Given the description of an element on the screen output the (x, y) to click on. 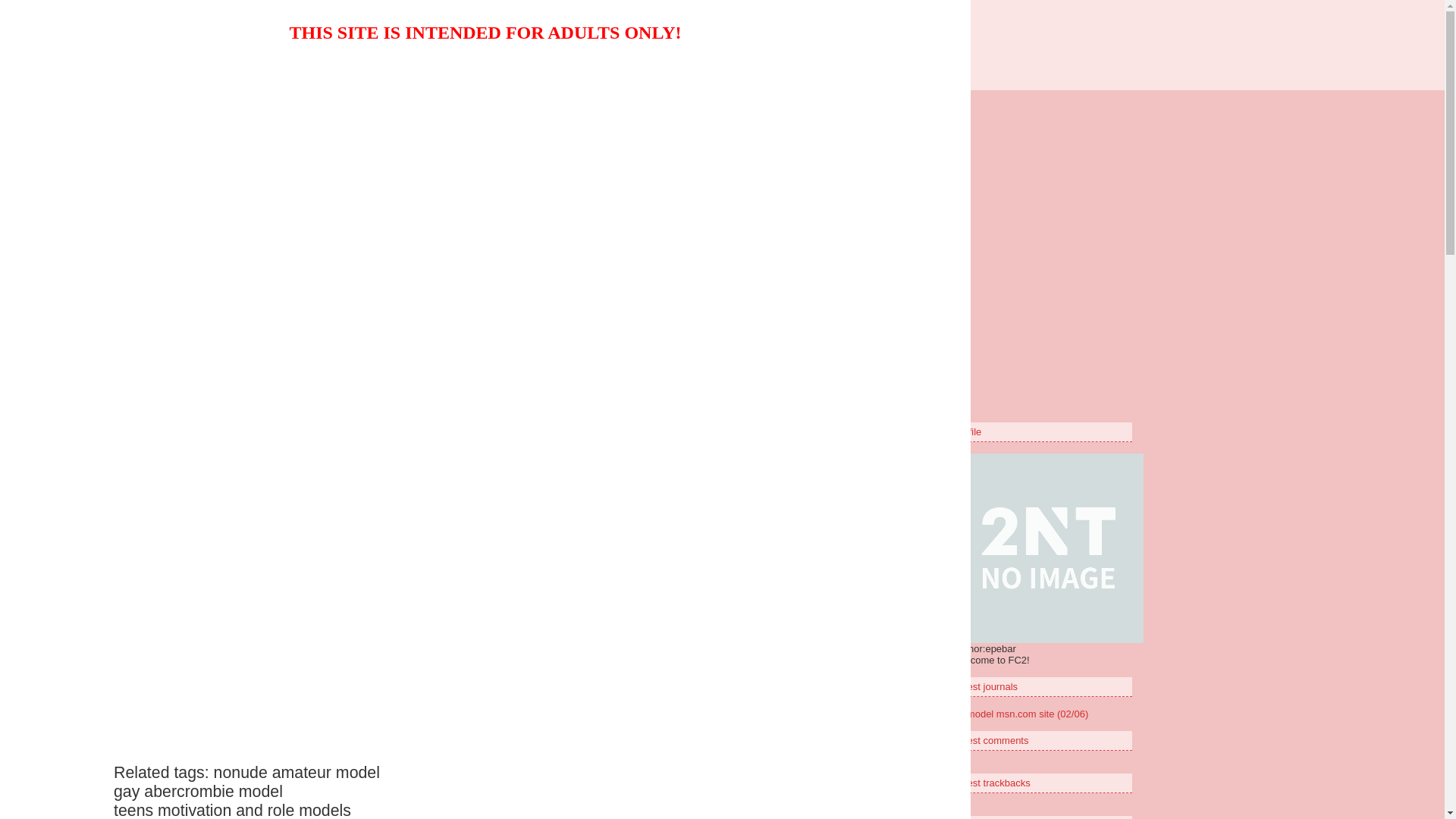
Trackbacks : 0 Element type: text (837, 194)
Ls model msn.com site Element type: text (410, 146)
Little girls model nude Element type: text (722, 38)
Comments : 4 Element type: text (756, 194)
Pagetop Element type: text (851, 234)
Ls model msn.com site (02/06) Element type: text (1020, 713)
Category: None Element type: text (671, 194)
HOME Element type: text (613, 268)
Pagetop Element type: text (874, 329)
